Given the description of an element on the screen output the (x, y) to click on. 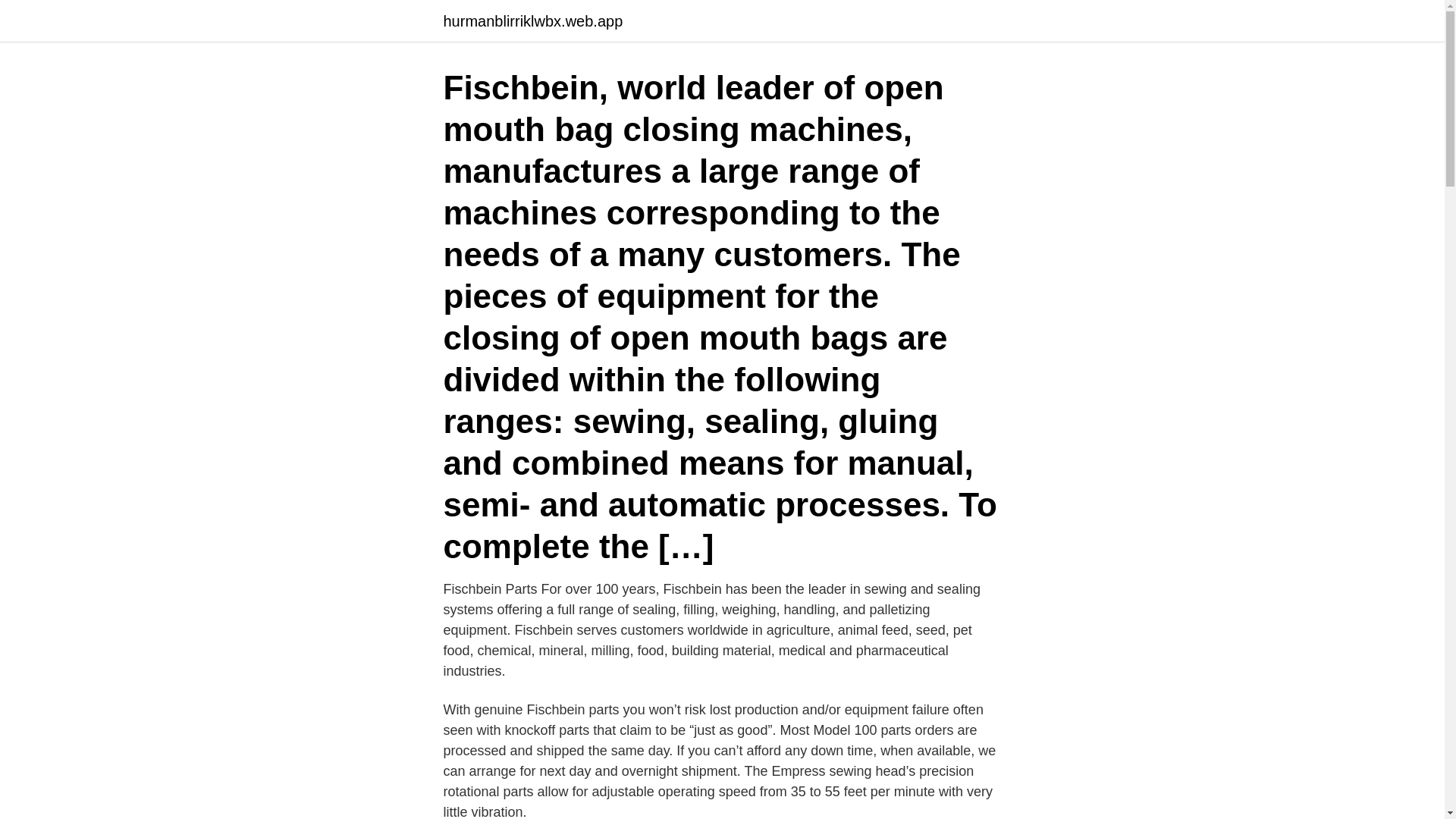
hurmanblirriklwbx.web.app (532, 20)
